Given the description of an element on the screen output the (x, y) to click on. 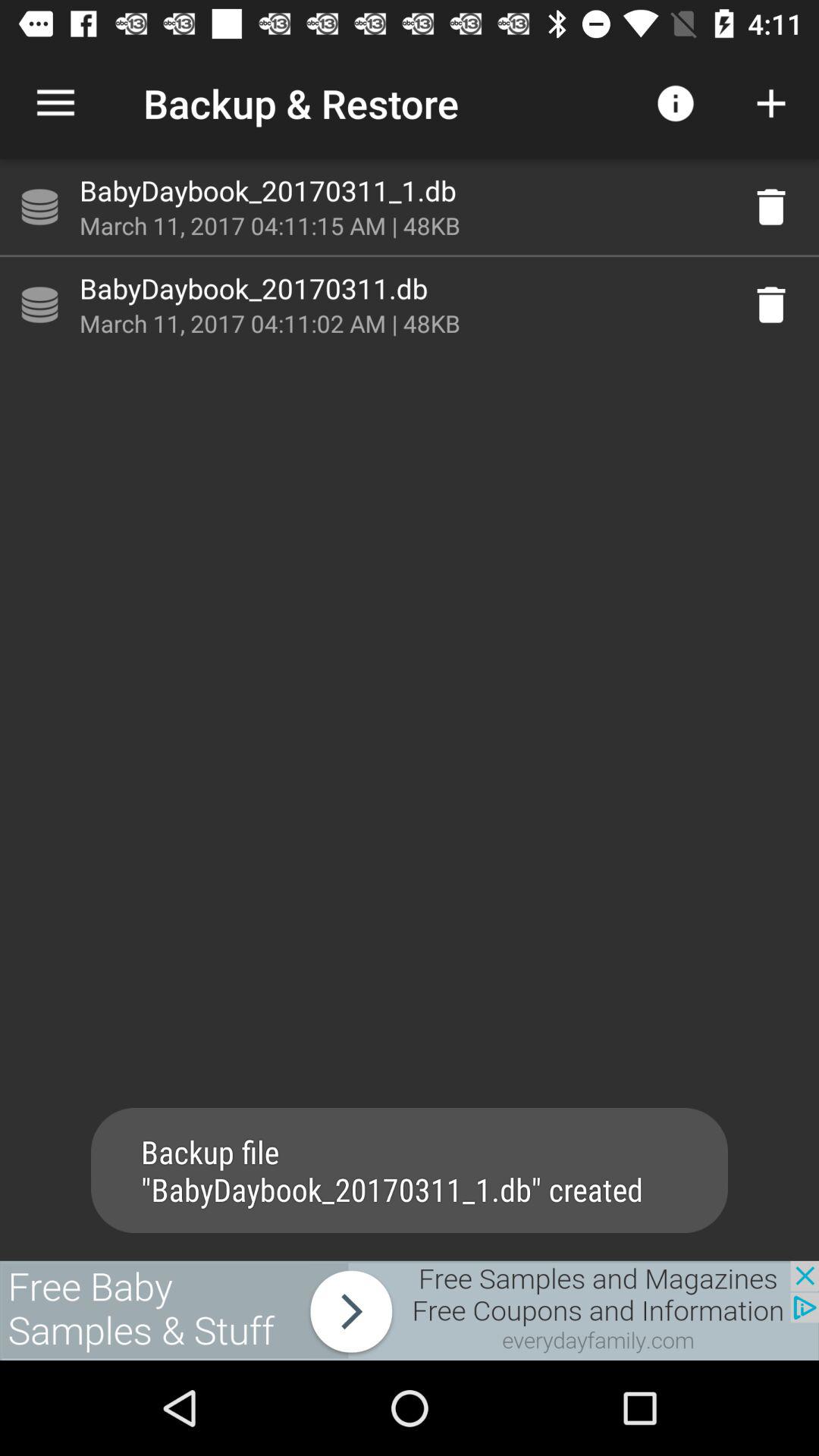
delete the babydaybook_20170311_1.db file (771, 206)
